Given the description of an element on the screen output the (x, y) to click on. 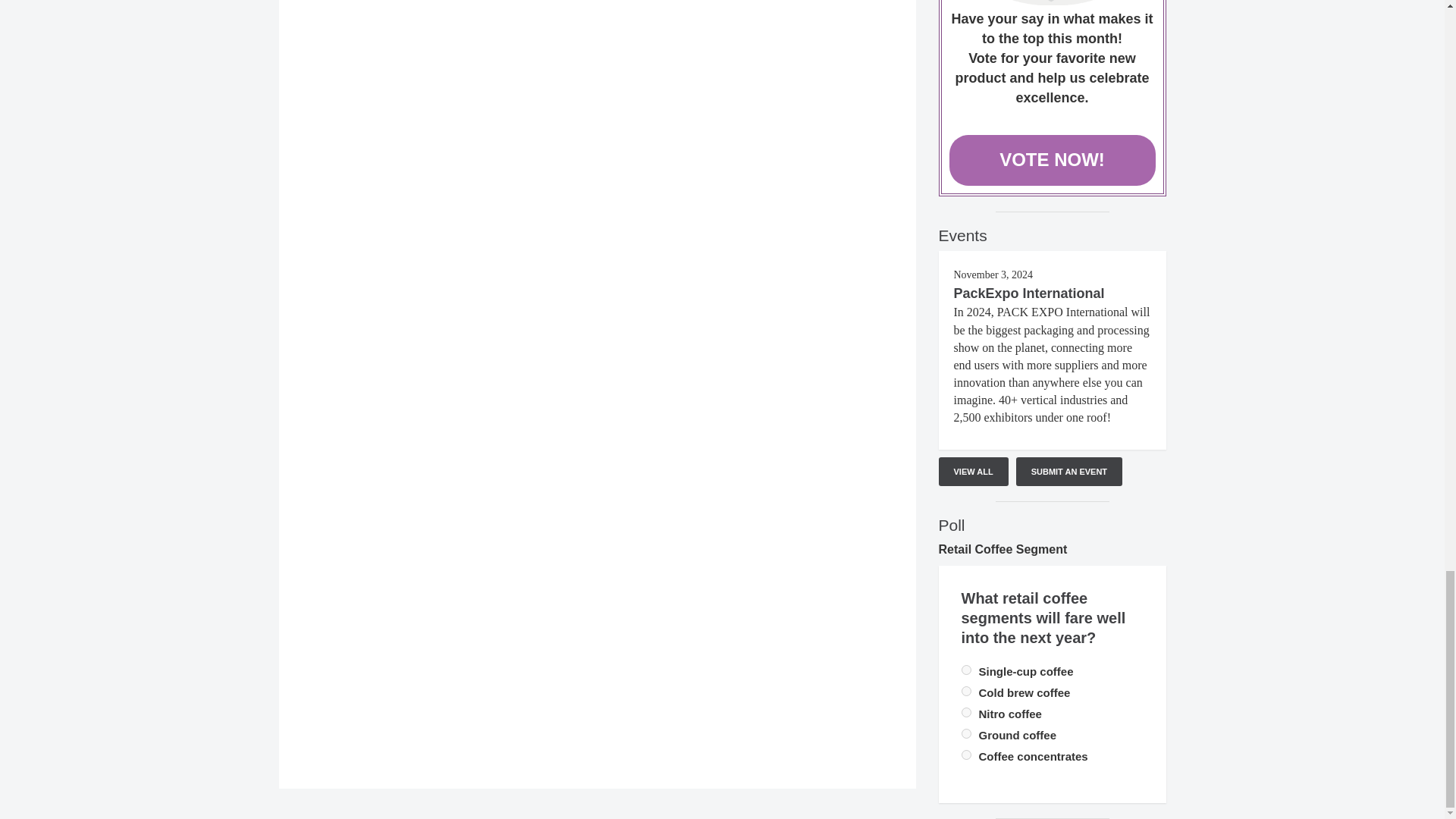
3092 (965, 669)
3096 (965, 733)
PackExpo International (1029, 293)
3093 (965, 691)
Vote (1052, 2)
3094 (965, 712)
3095 (965, 755)
